Given the description of an element on the screen output the (x, y) to click on. 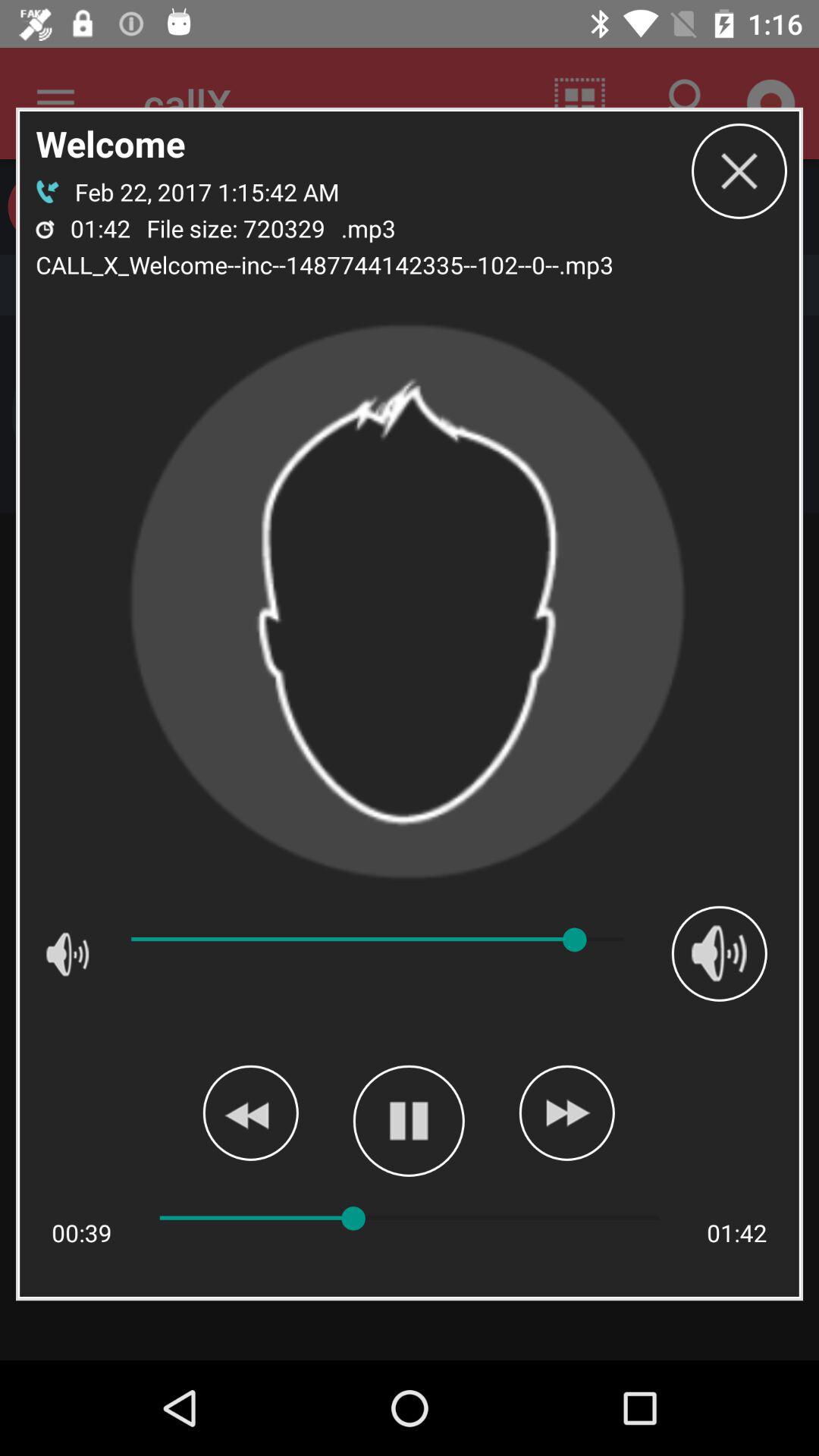
close box button (739, 170)
